Given the description of an element on the screen output the (x, y) to click on. 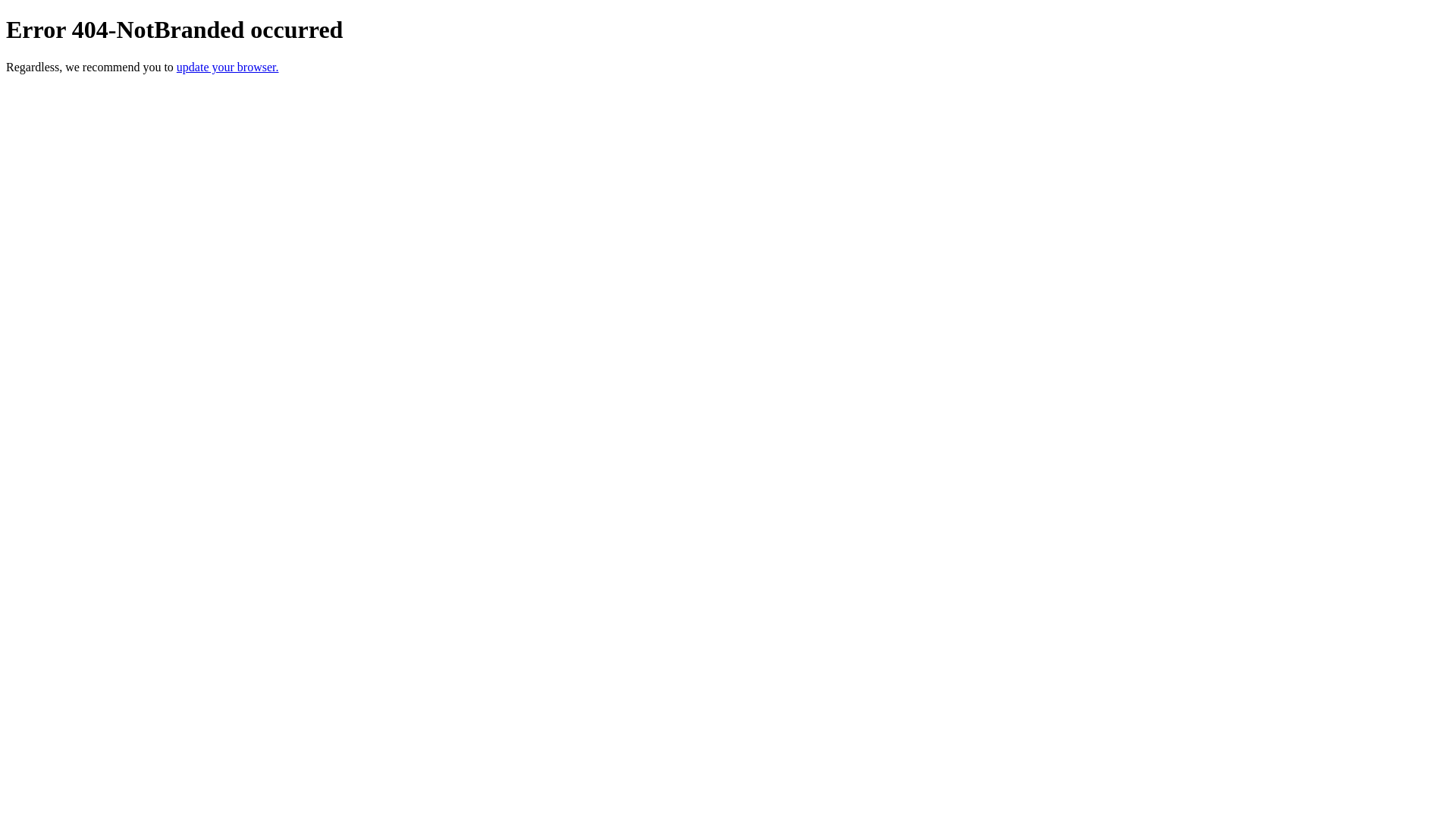
update your browser. Element type: text (227, 66)
